Given the description of an element on the screen output the (x, y) to click on. 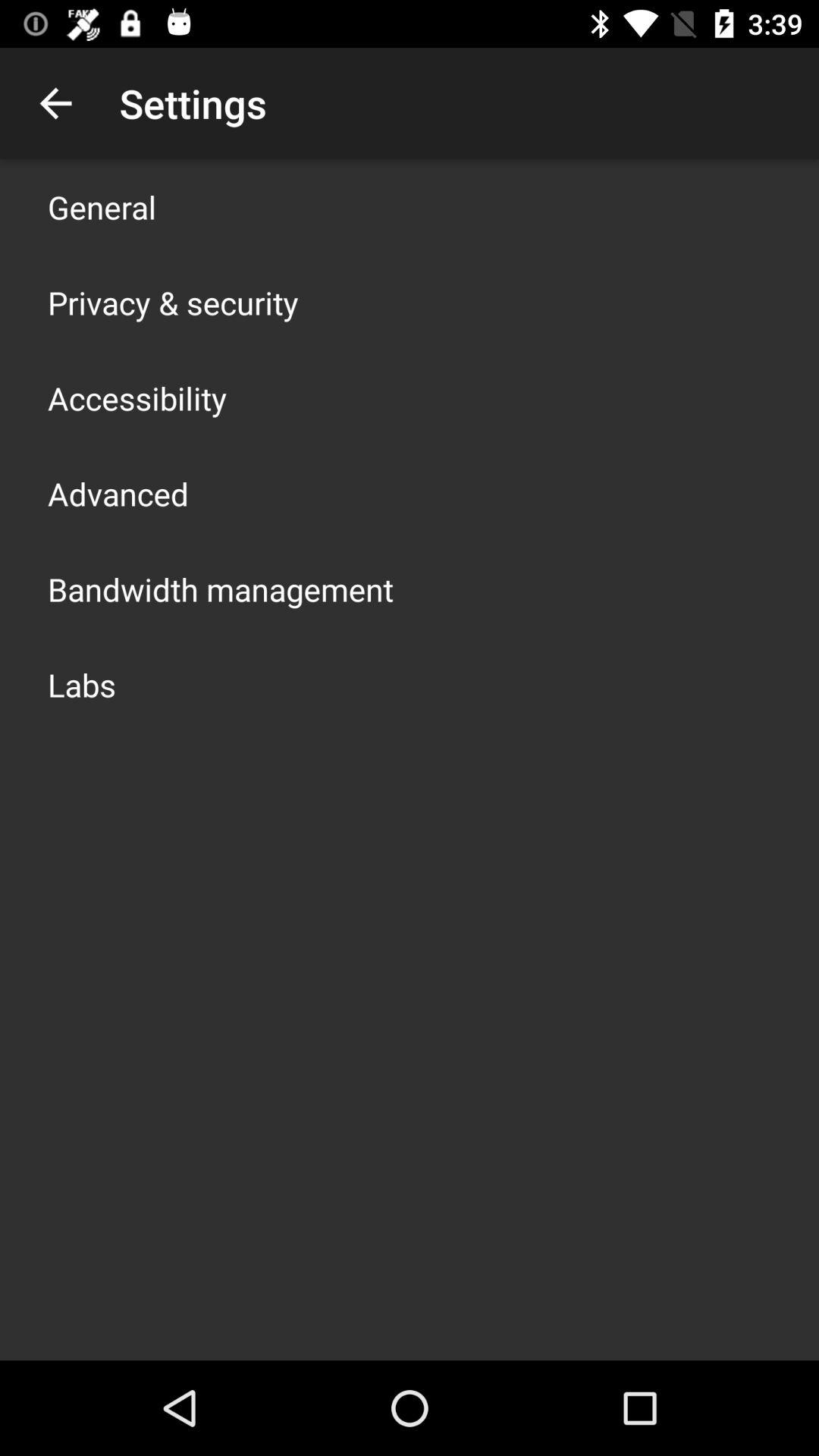
turn on advanced app (117, 493)
